Given the description of an element on the screen output the (x, y) to click on. 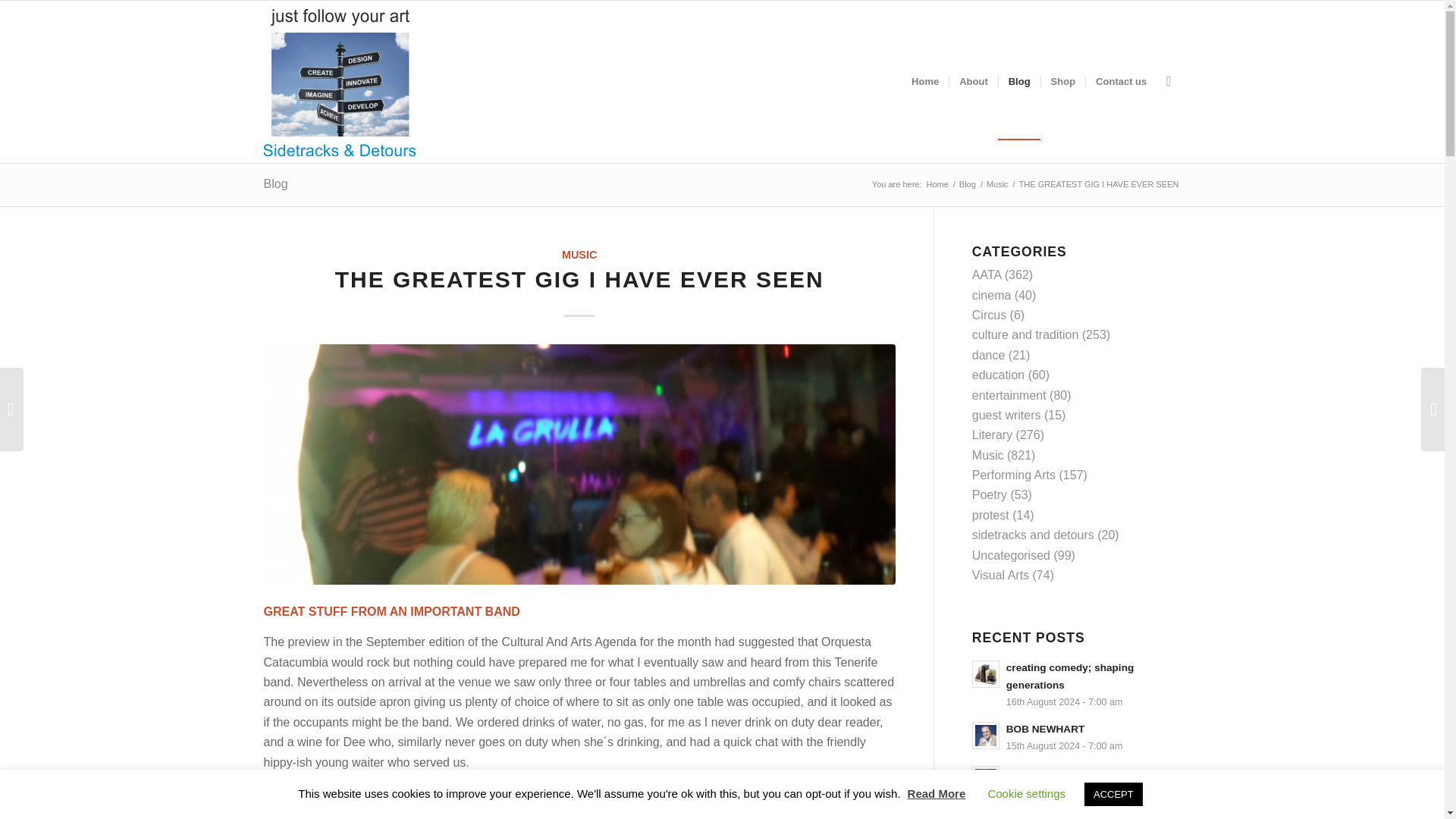
JAZZ JUNCTION (1076, 780)
Uncategorised (1010, 554)
Music (988, 454)
Blog (967, 184)
AATA (986, 274)
Music (997, 184)
Blog (275, 183)
sidetracks and detours (1033, 534)
Blog (967, 184)
